Given the description of an element on the screen output the (x, y) to click on. 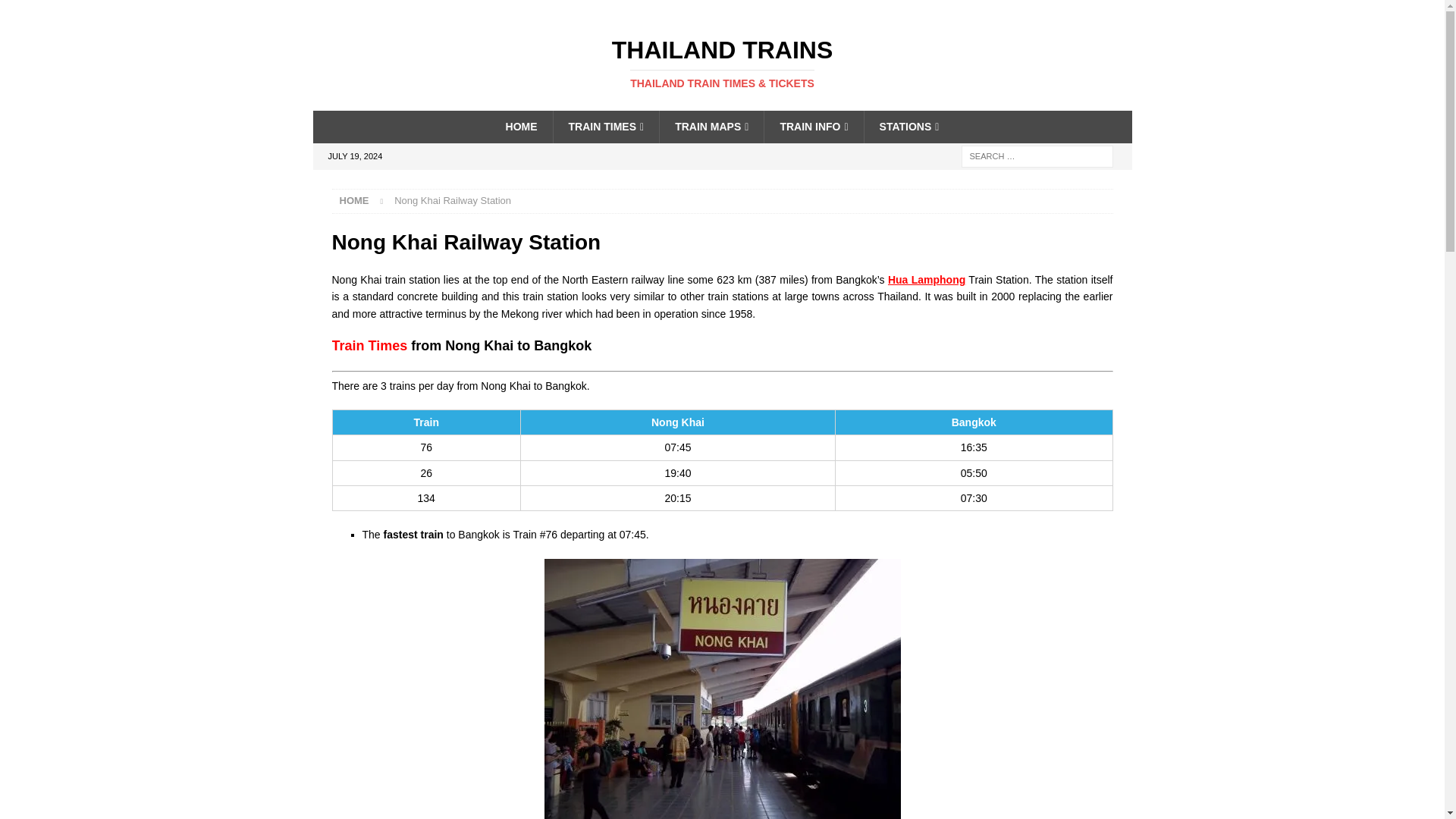
Thailand Trains (722, 63)
Home (354, 200)
